Given the description of an element on the screen output the (x, y) to click on. 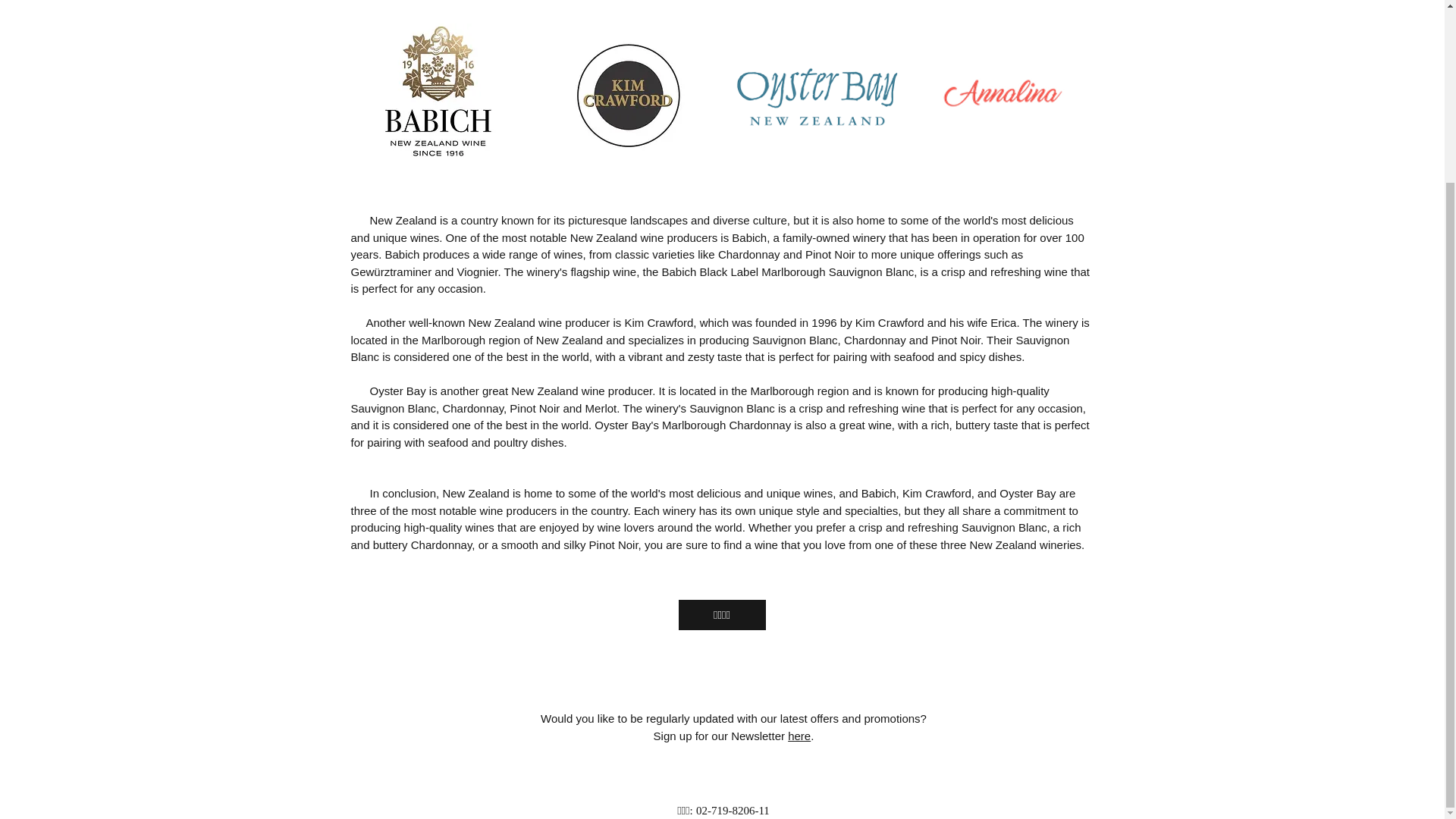
02-719-8206-11 (732, 810)
here (798, 735)
